Given the description of an element on the screen output the (x, y) to click on. 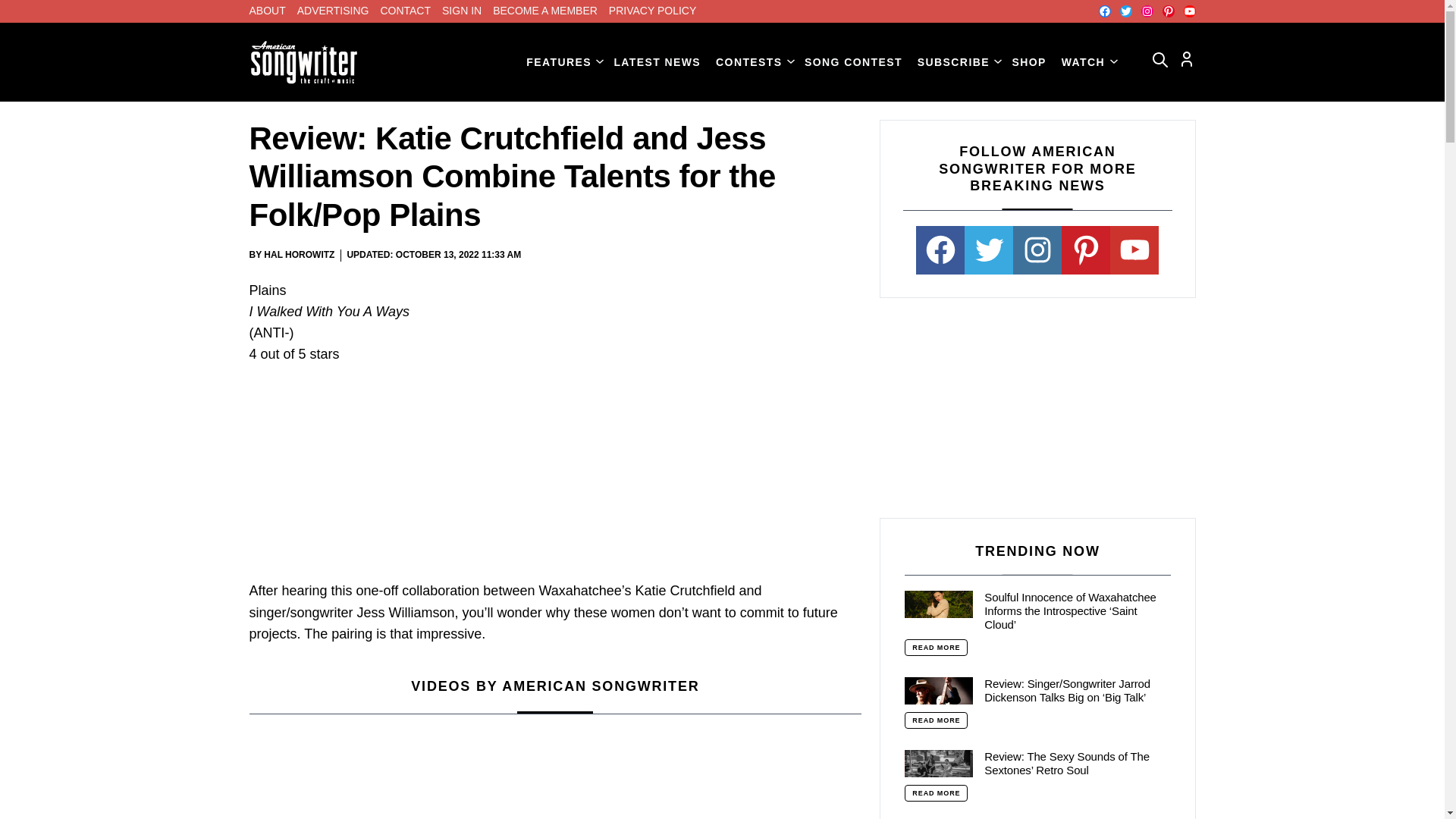
BECOME A MEMBER (544, 10)
SIGN IN (461, 10)
October 13, 2022 11:33 am (458, 255)
YouTube (1188, 10)
ABOUT (266, 10)
Facebook (1103, 10)
Pinterest (1167, 10)
Twitter (1125, 10)
Posts by Hal Horowitz (298, 254)
ADVERTISING (333, 10)
